Given the description of an element on the screen output the (x, y) to click on. 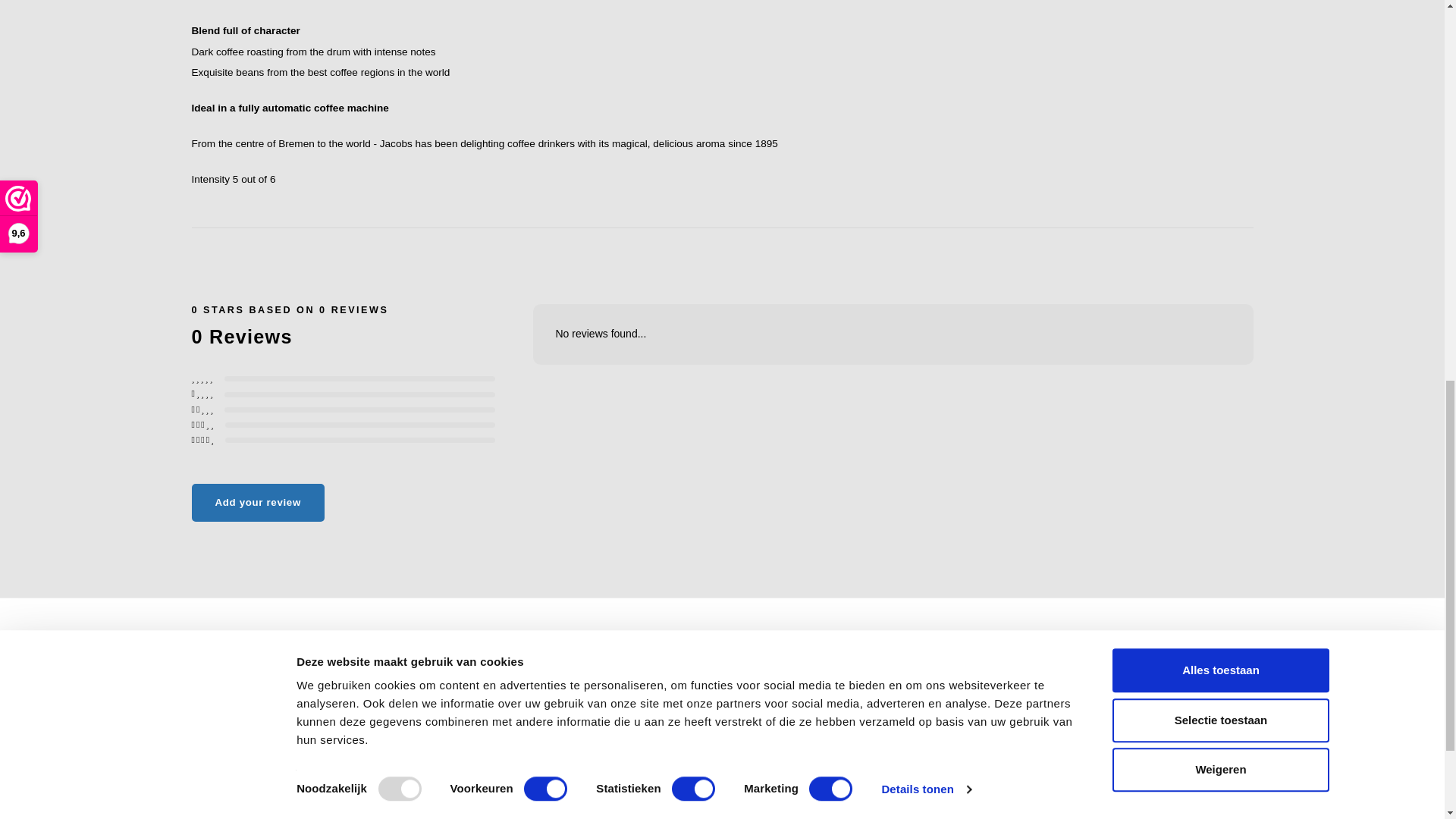
Register (1185, 674)
My orders (1188, 695)
Subscribe (880, 707)
My tickets (1188, 715)
Instagram  (674, 795)
